Given the description of an element on the screen output the (x, y) to click on. 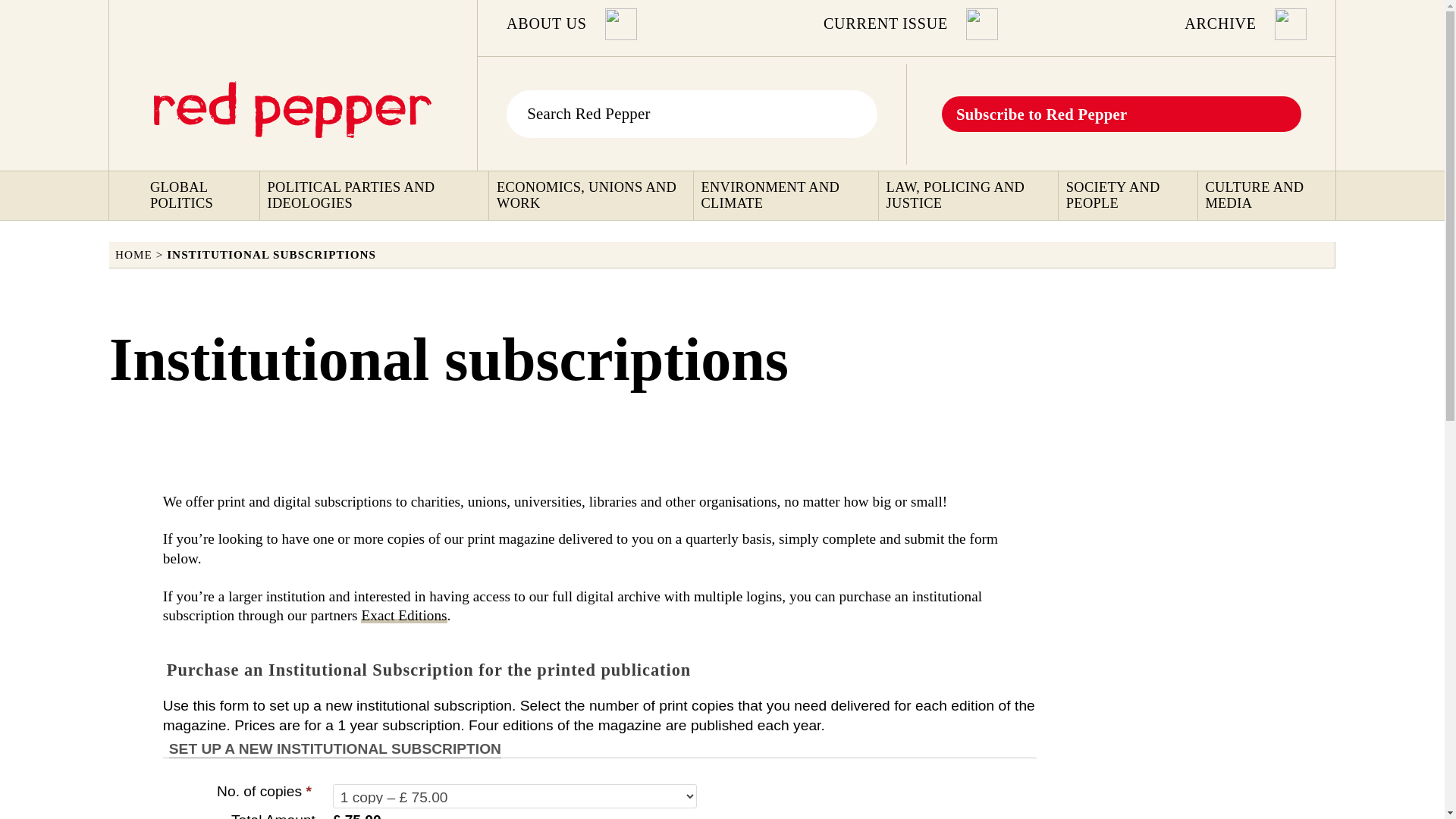
HOME (133, 254)
Subscribe to Red Pepper (1041, 113)
ABOUT US (546, 23)
ECONOMICS, UNIONS AND WORK (592, 195)
CULTURE AND MEDIA (1268, 195)
CURRENT ISSUE (885, 23)
POLITICAL PARTIES AND IDEOLOGIES (375, 195)
LAW, POLICING AND JUSTICE (970, 195)
SOCIETY AND PEOPLE (1129, 195)
Exact Editions (403, 615)
ENVIRONMENT AND CLIMATE (787, 195)
GLOBAL POLITICS (202, 195)
ARCHIVE (1220, 23)
